Given the description of an element on the screen output the (x, y) to click on. 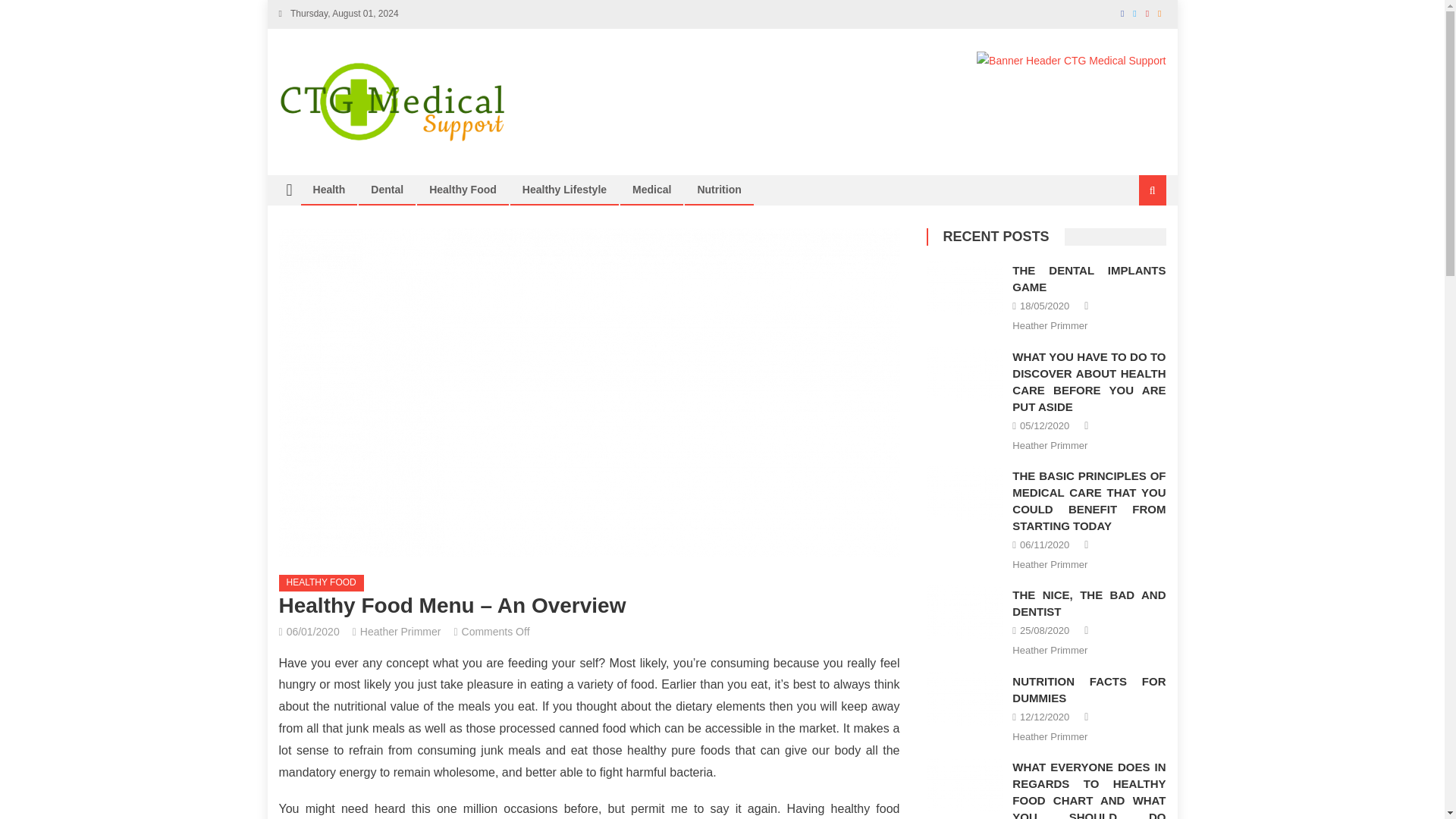
Heather Primmer (400, 630)
THE DENTAL IMPLANTS GAME (1088, 278)
Medical (651, 189)
Dental (386, 189)
The Nice, The Bad and Dentist (964, 612)
Health (328, 189)
Healthy Lifestyle (564, 189)
Nutrition (718, 189)
HEALTHY FOOD (321, 582)
The Dental Implants Game (964, 288)
Search (1133, 240)
Healthy Food (462, 189)
